Given the description of an element on the screen output the (x, y) to click on. 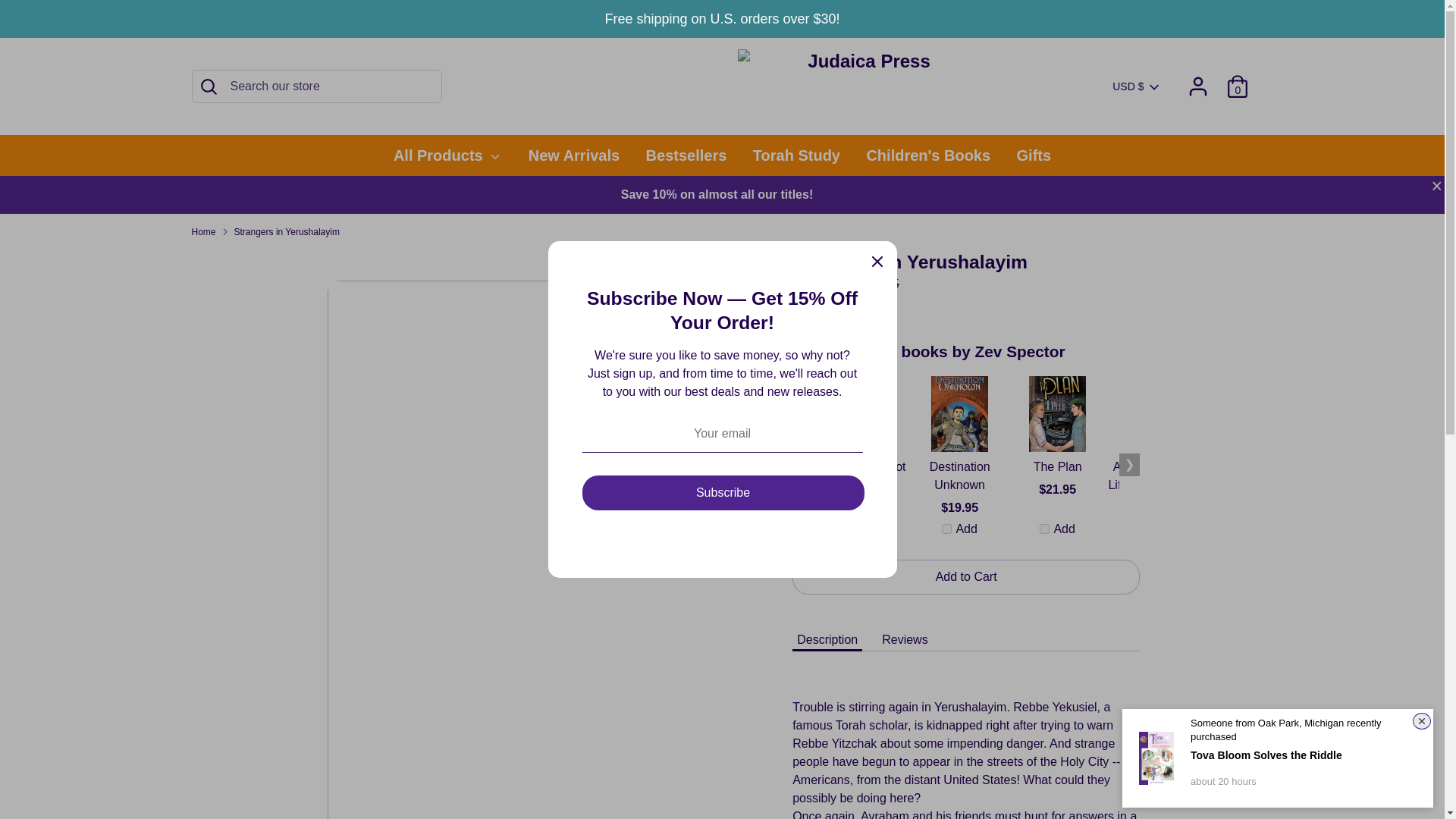
on (947, 528)
on (1142, 528)
Diners Club (1054, 771)
Shop Pay (1206, 771)
on (848, 528)
Discover (1084, 771)
Mastercard (1176, 771)
American Express (994, 771)
Visa (1236, 771)
on (1044, 528)
Google Pay (1145, 771)
Meta Pay (1114, 771)
Apple Pay (1024, 771)
